Given the description of an element on the screen output the (x, y) to click on. 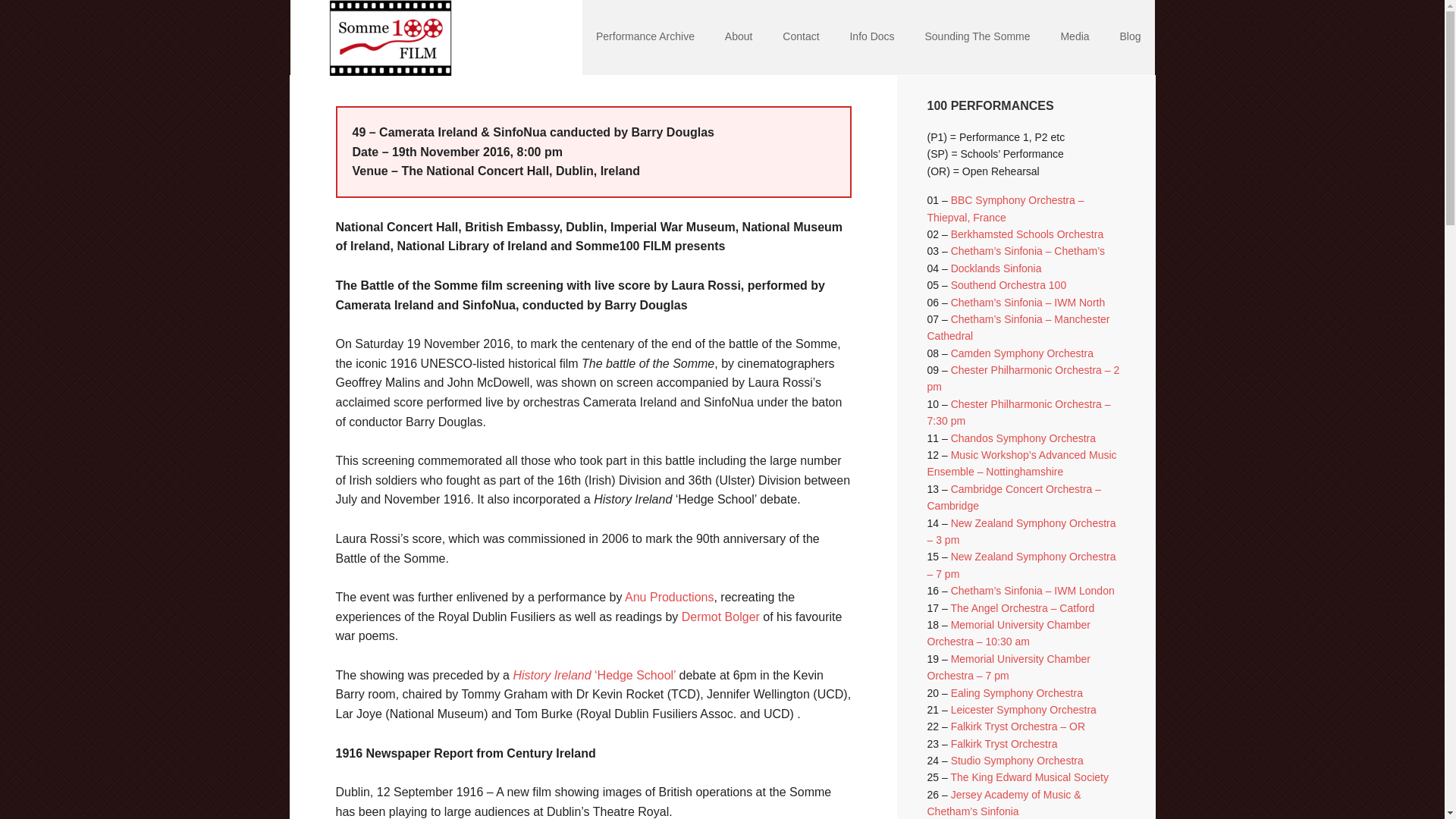
Docklands Sinfonia (996, 268)
Anu Productions (668, 596)
Southend Orchestra 100 (1008, 285)
Chandos Symphony Orchestra (1023, 438)
Performance Archive (644, 37)
Somme100 FILM (387, 38)
Camden Symphony Orchestra (1021, 353)
Berkhamsted Schools Orchestra (1026, 234)
Dermot Bolger (720, 616)
Sounding The Somme (977, 37)
Info Docs (871, 37)
